Given the description of an element on the screen output the (x, y) to click on. 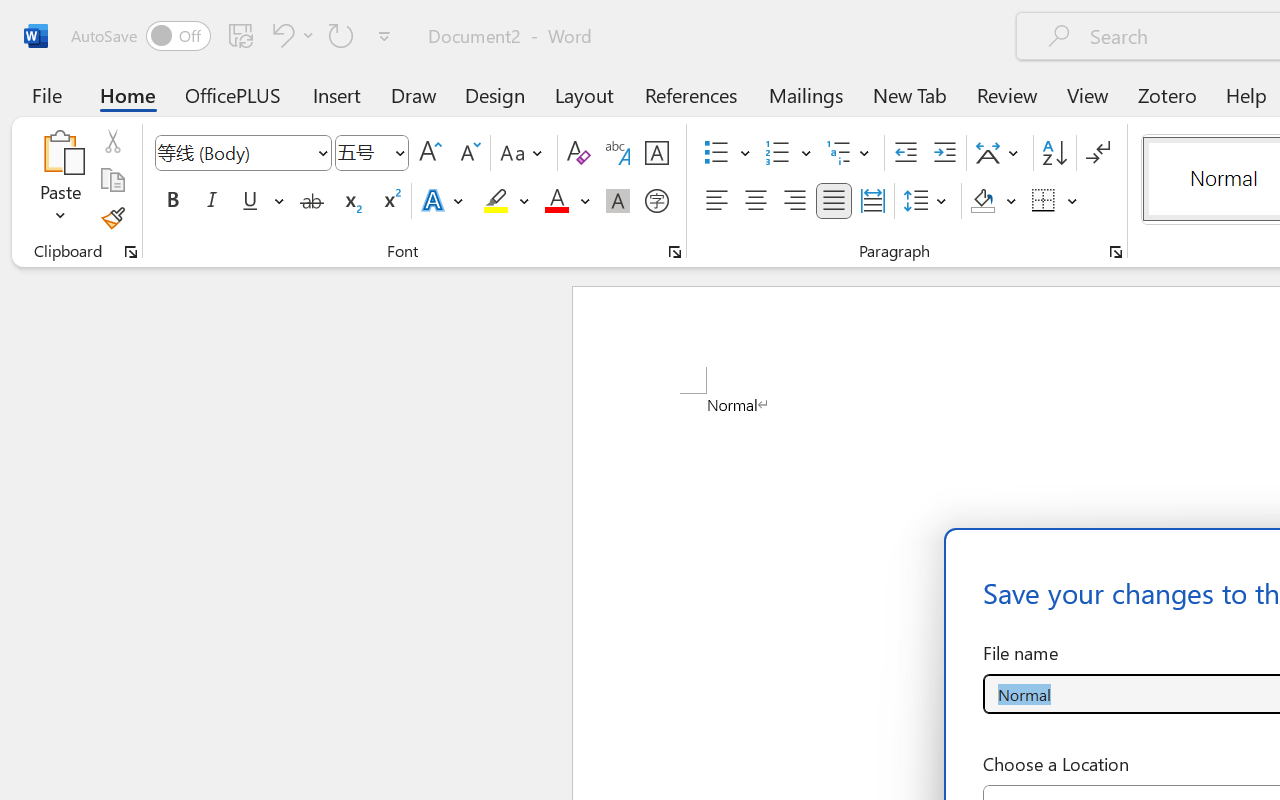
Borders (1055, 201)
Office Clipboard... (131, 252)
Show/Hide Editing Marks (1098, 153)
Decrease Indent (906, 153)
Layout (584, 94)
Customize Quick Access Toolbar (384, 35)
Sort... (1054, 153)
Character Border (656, 153)
Open (399, 152)
Phonetic Guide... (618, 153)
Enclose Characters... (656, 201)
Superscript (390, 201)
Review (1007, 94)
